Given the description of an element on the screen output the (x, y) to click on. 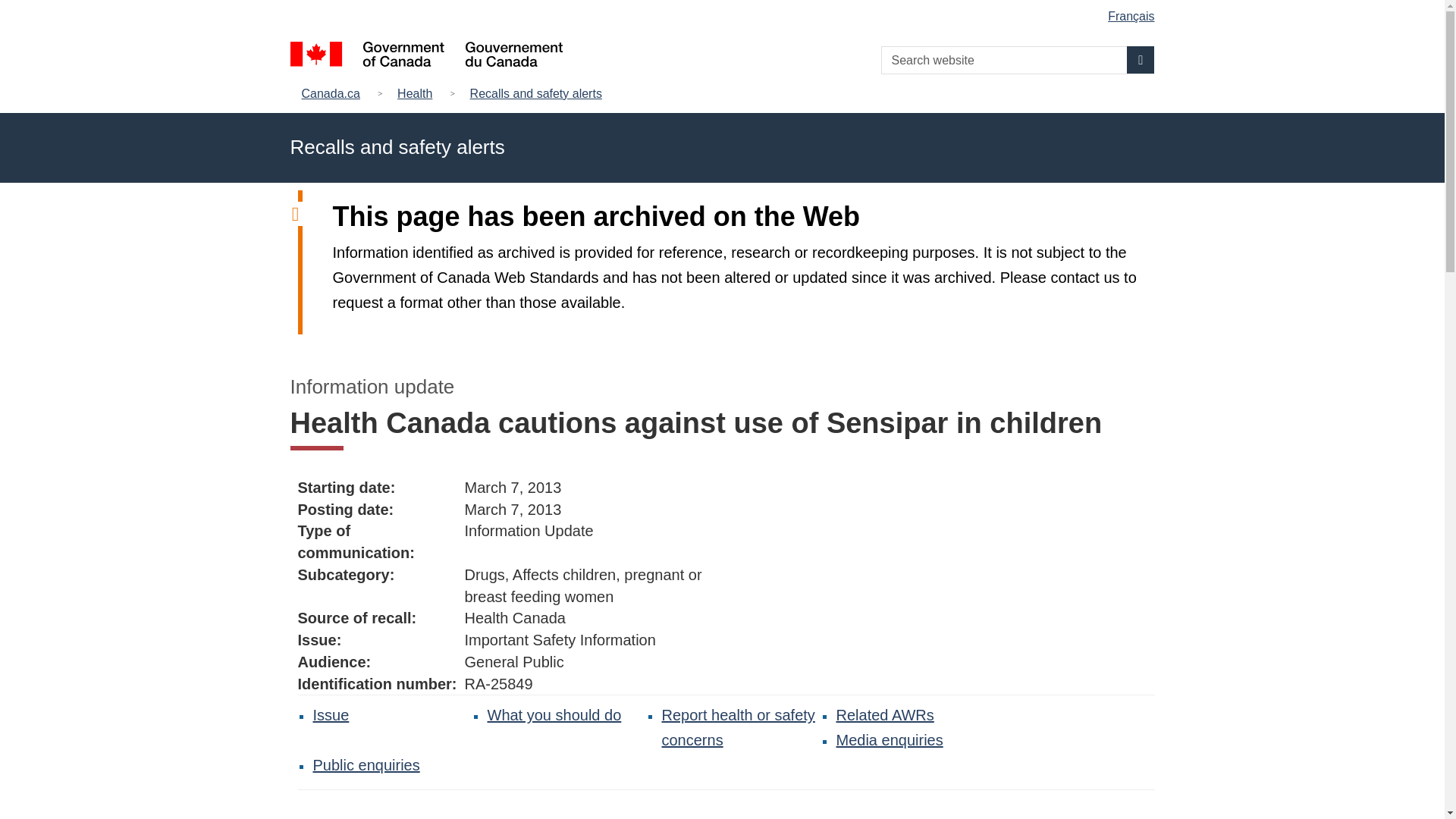
Report health or safety concerns (737, 727)
Search (1140, 58)
Recalls and safety alerts (536, 93)
Media enquiries (888, 740)
Issue (331, 714)
Skip to main content (725, 11)
What you should do (553, 714)
Health (414, 93)
Canada.ca (334, 93)
Public enquiries (366, 764)
Related AWRs (884, 714)
Search (1140, 58)
